Given the description of an element on the screen output the (x, y) to click on. 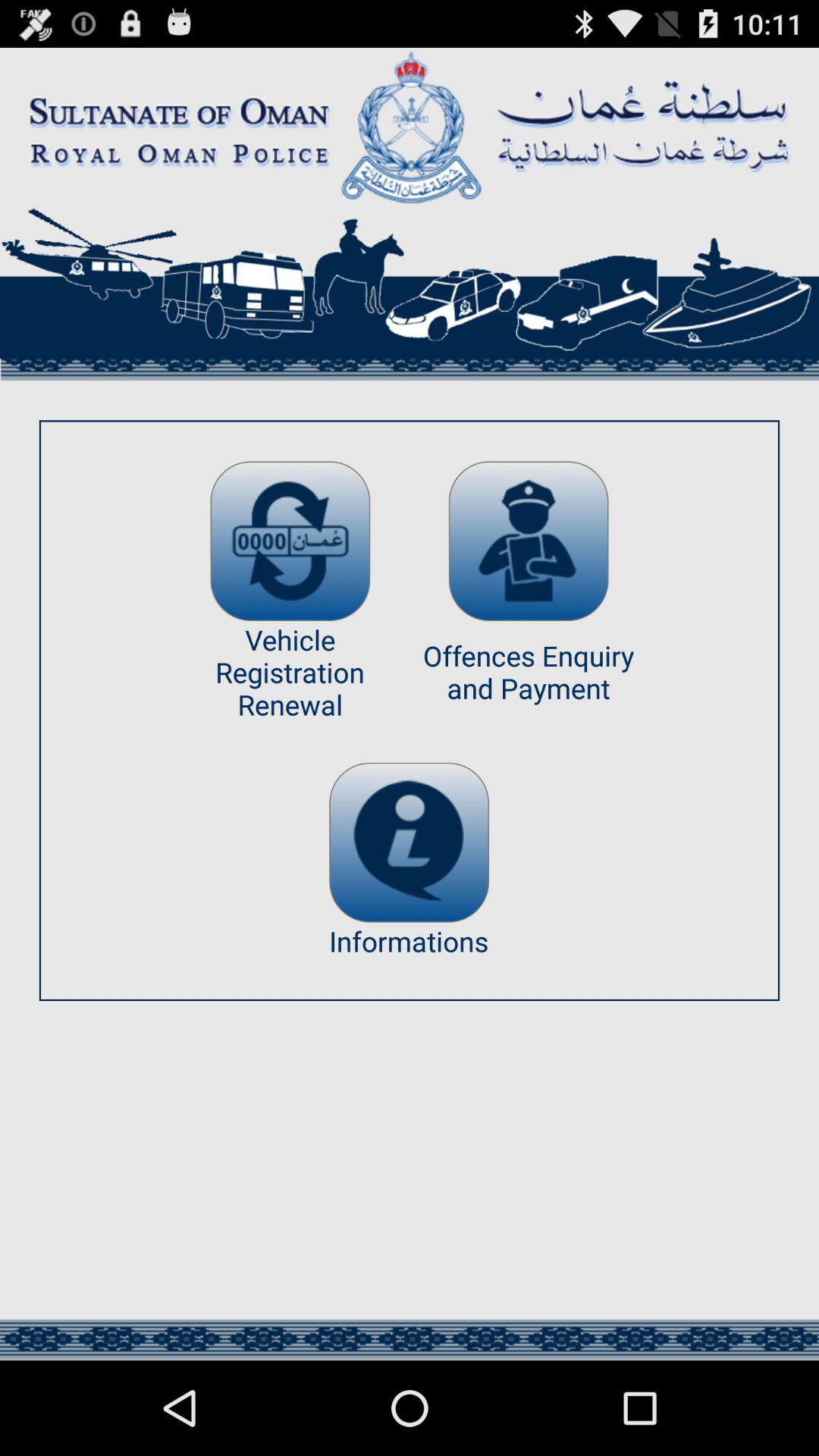
go to registration renewal (290, 541)
